Given the description of an element on the screen output the (x, y) to click on. 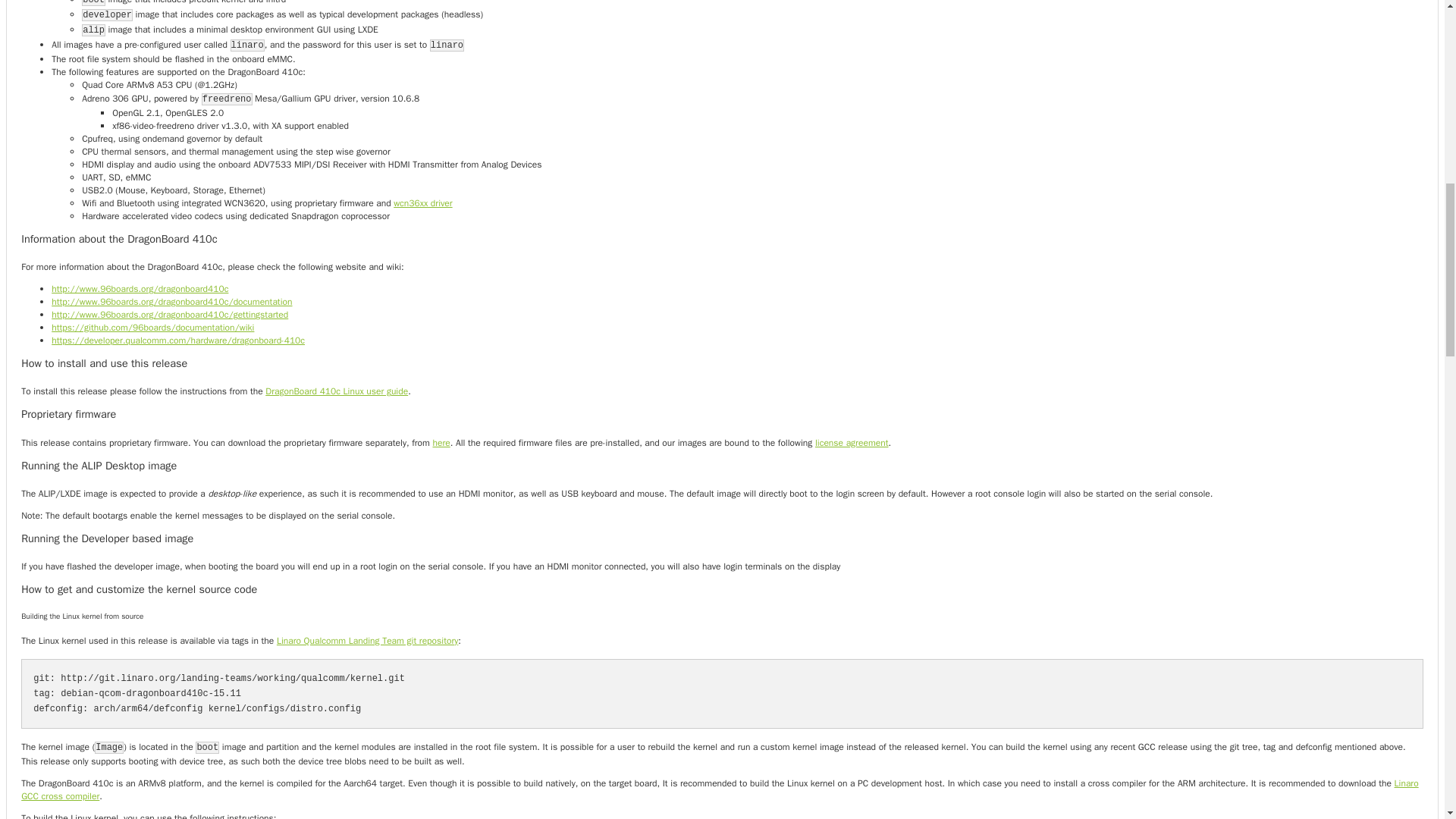
Aarch64 little-endian (719, 789)
DragonBoard 410c Linux user guide (335, 390)
Linaro Qualcomm Landing Team git repository (367, 640)
wcn36xx driver (422, 203)
license agreement (851, 442)
here (440, 442)
Linaro GCC cross compiler (719, 789)
